Given the description of an element on the screen output the (x, y) to click on. 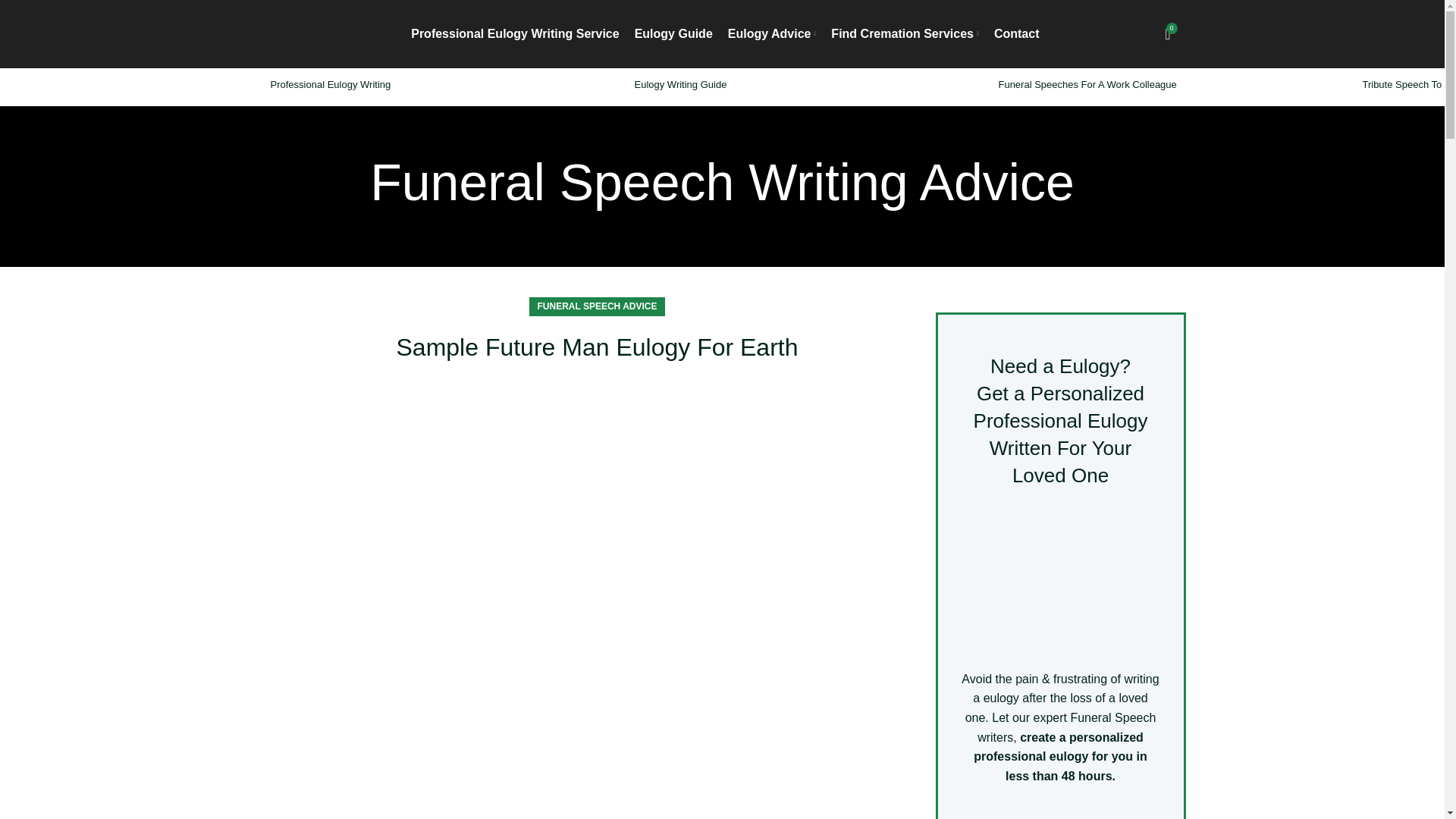
Tribute Speech To Dad From Daughter (1408, 84)
professional eulogy writing service sidebar (1059, 579)
Eulogy Writing Guide (679, 84)
FUNERAL SPEECH ADVICE (596, 306)
Funeral Speeches For A Work Colleague (1086, 84)
Professional Eulogy Writing (329, 84)
Professional Eulogy Writing Service (514, 33)
Contact (1016, 33)
Eulogy Advice (772, 33)
